Given the description of an element on the screen output the (x, y) to click on. 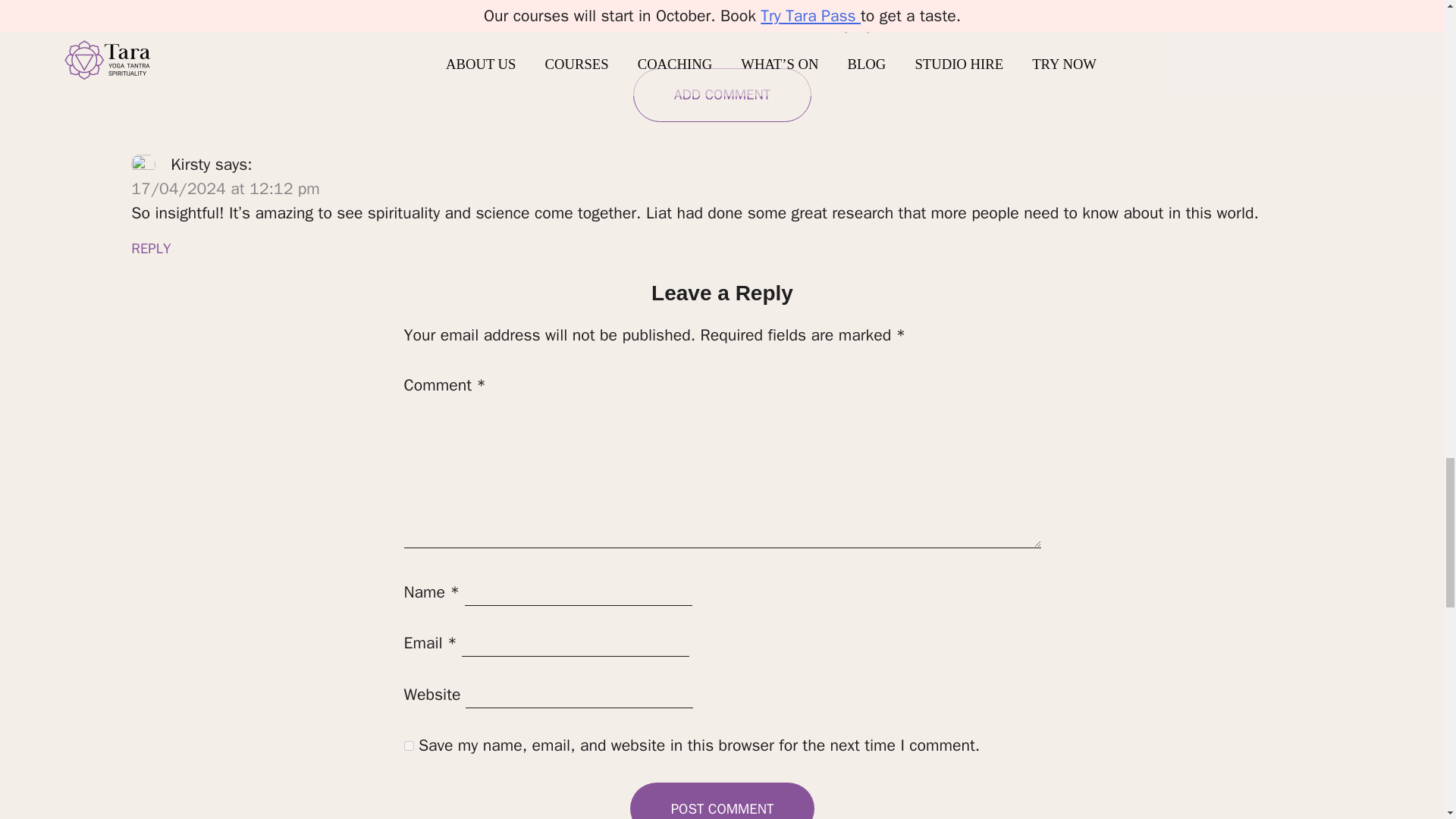
Post Comment (721, 800)
REPLY (150, 248)
Post Comment (721, 800)
ADD COMMENT (722, 94)
yes (408, 746)
